Given the description of an element on the screen output the (x, y) to click on. 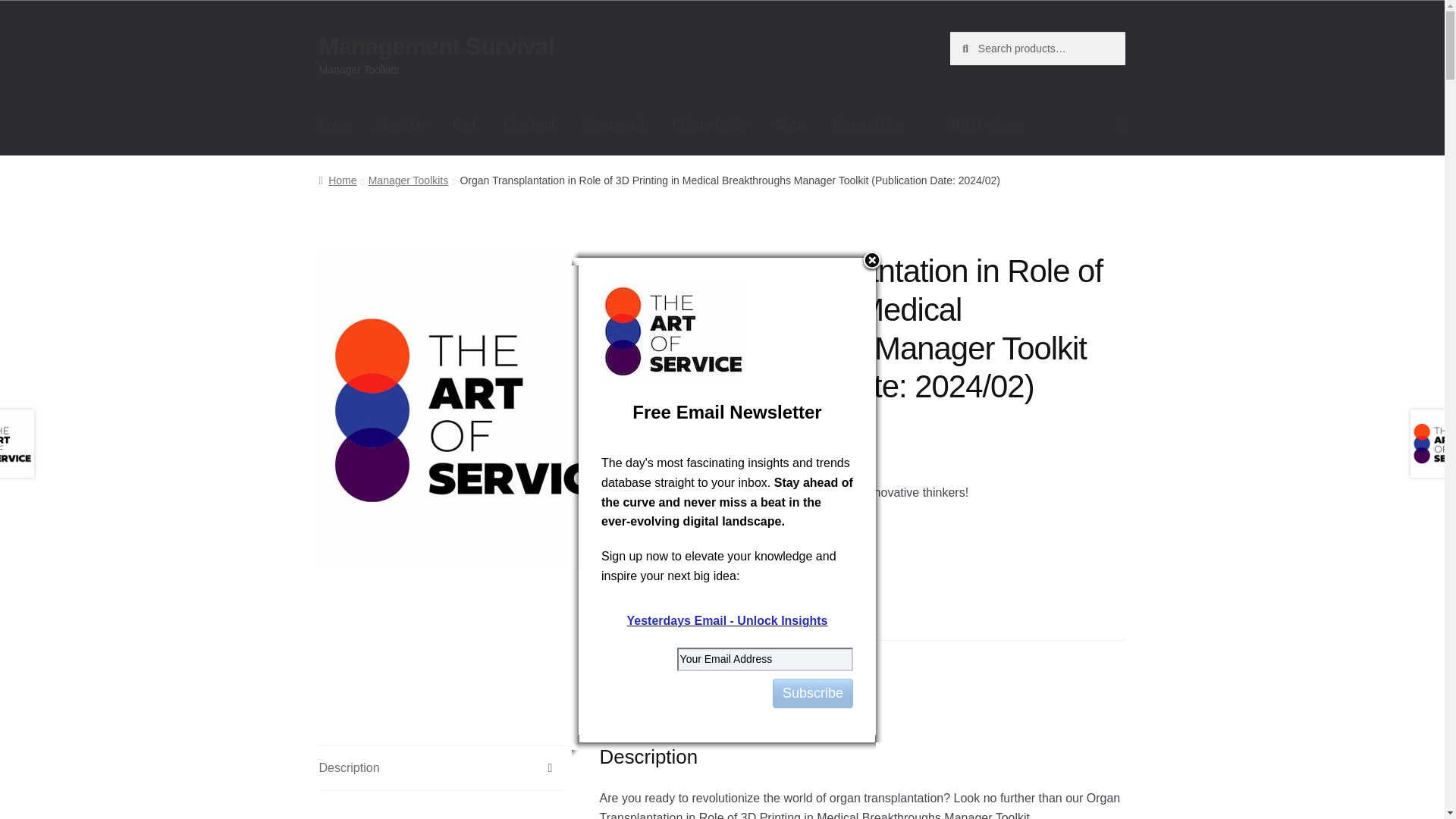
Description (441, 768)
About Us (400, 124)
PayPal (897, 618)
Manager Toolkits (762, 659)
Privacy Policy (709, 124)
Terms of Use (866, 124)
Manager Toolkits (408, 180)
Management Survival (436, 45)
View your shopping cart (1037, 124)
Your Email Address (765, 658)
Checkout (529, 124)
Add to cart (780, 549)
My account (613, 124)
Home (337, 180)
